Given the description of an element on the screen output the (x, y) to click on. 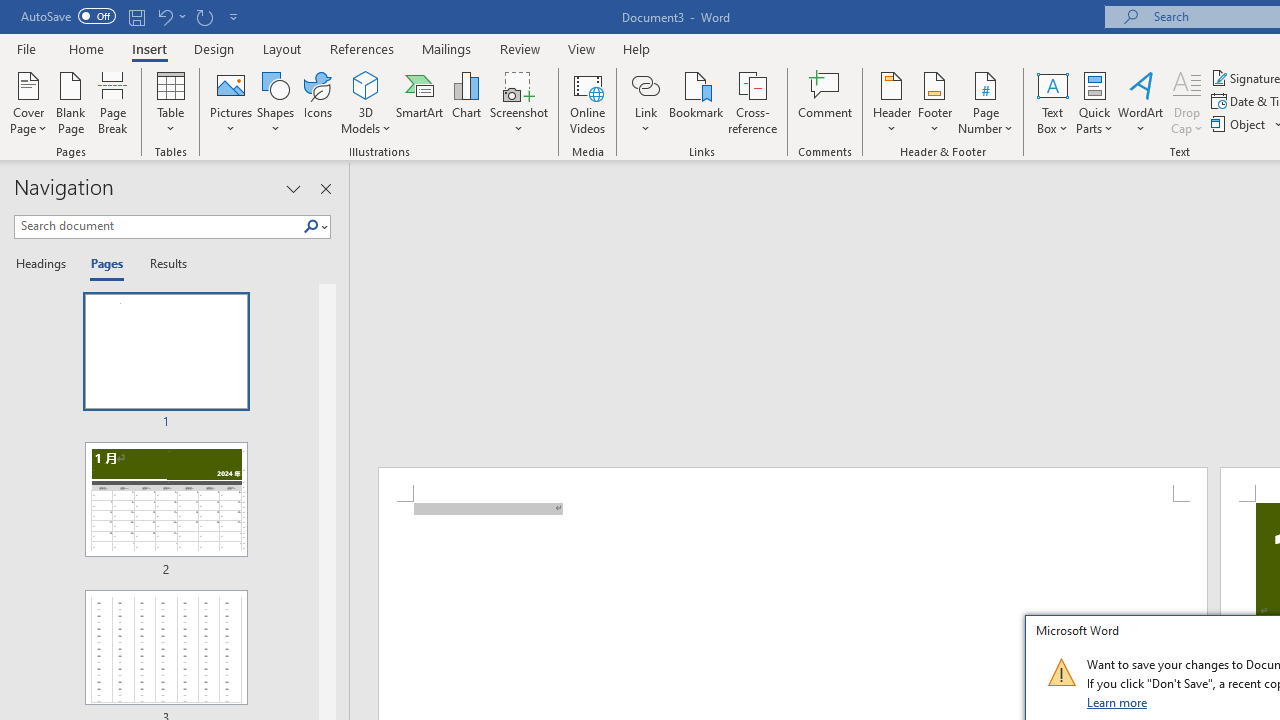
Object... (1240, 124)
Header -Section 1- (792, 485)
Page Break (113, 102)
Undo New Page (170, 15)
Undo New Page (164, 15)
Footer (934, 102)
